Given the description of an element on the screen output the (x, y) to click on. 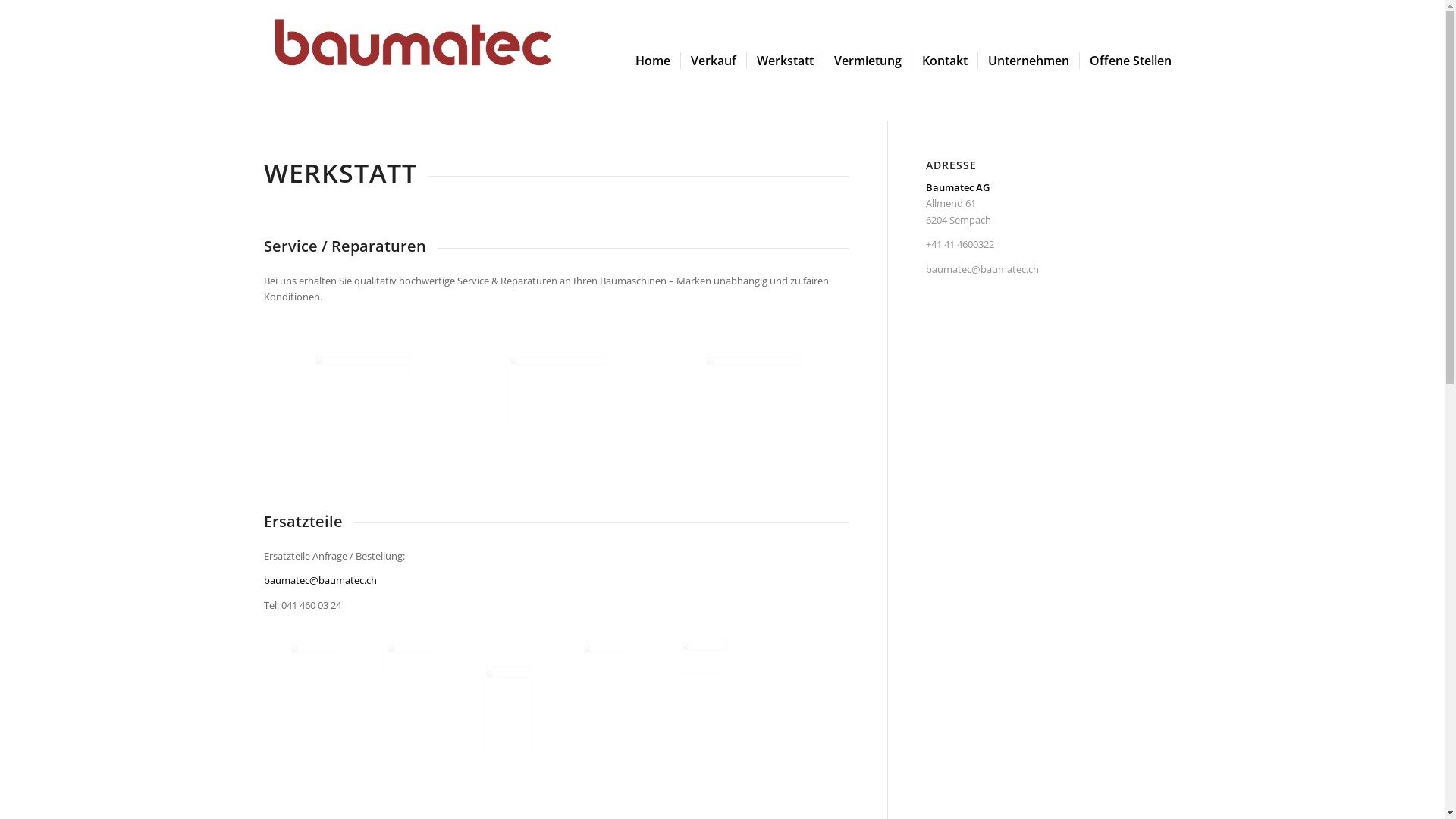
Home Element type: text (651, 60)
Verkauf Element type: text (712, 60)
Werkstatt Halle 2 front Element type: hover (800, 434)
baumatec@baumatec.ch Element type: text (319, 579)
Hydraulikpumpe Element type: hover (727, 673)
Vermietung Element type: text (867, 60)
Werkstatt front 2 Element type: hover (410, 434)
20210225_081402kl Element type: hover (336, 682)
Offene Stellen Element type: text (1129, 60)
Kontakt Element type: text (944, 60)
Kleinteile-Lager Element type: hover (604, 434)
baumatec@baumatec.ch Element type: text (981, 269)
20210225_081304kl Element type: hover (434, 682)
Werkstatt Element type: text (784, 60)
Unternehmen Element type: text (1027, 60)
Filterset Element type: hover (629, 682)
